Given the description of an element on the screen output the (x, y) to click on. 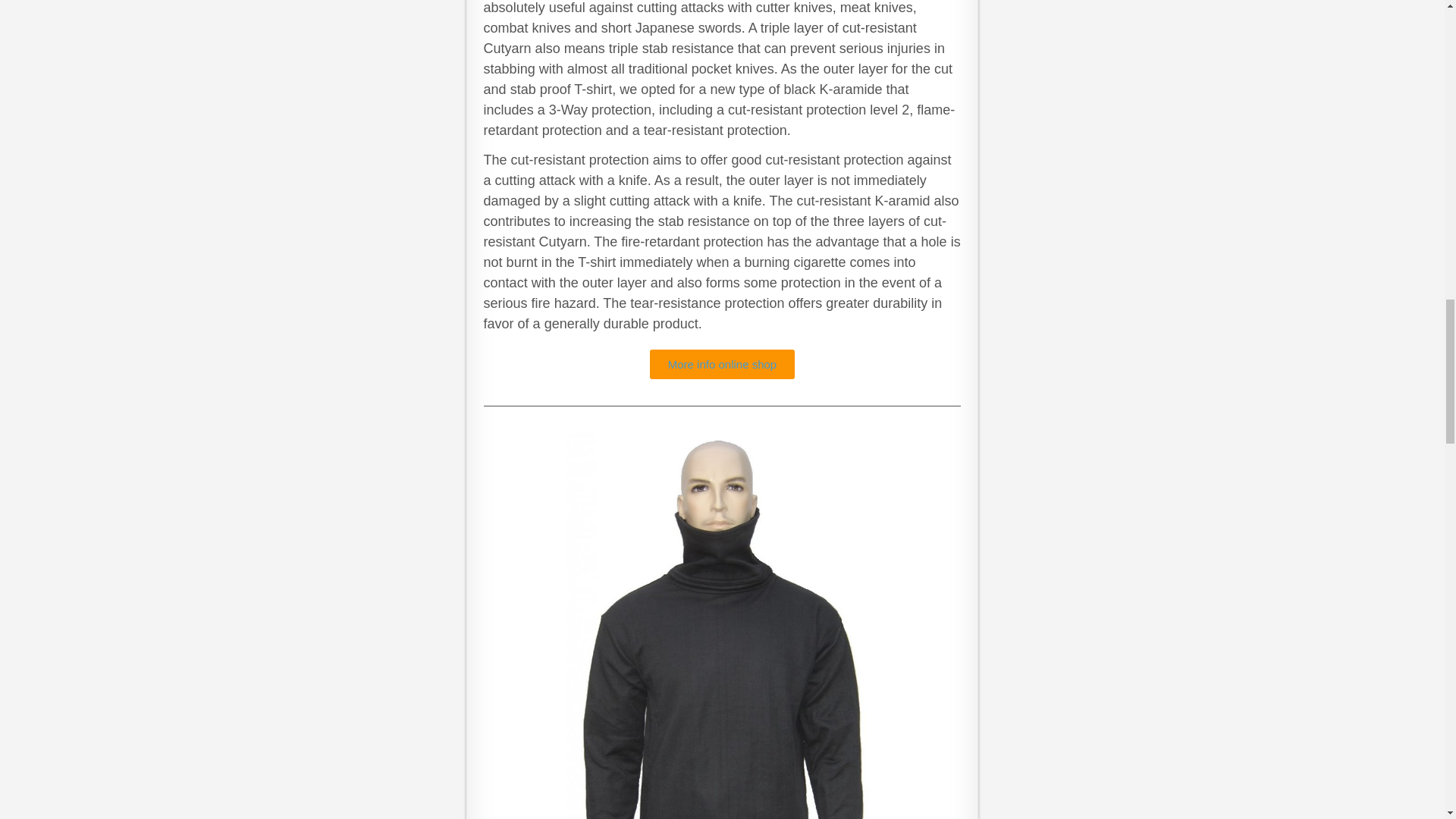
More info online shop (721, 364)
